Given the description of an element on the screen output the (x, y) to click on. 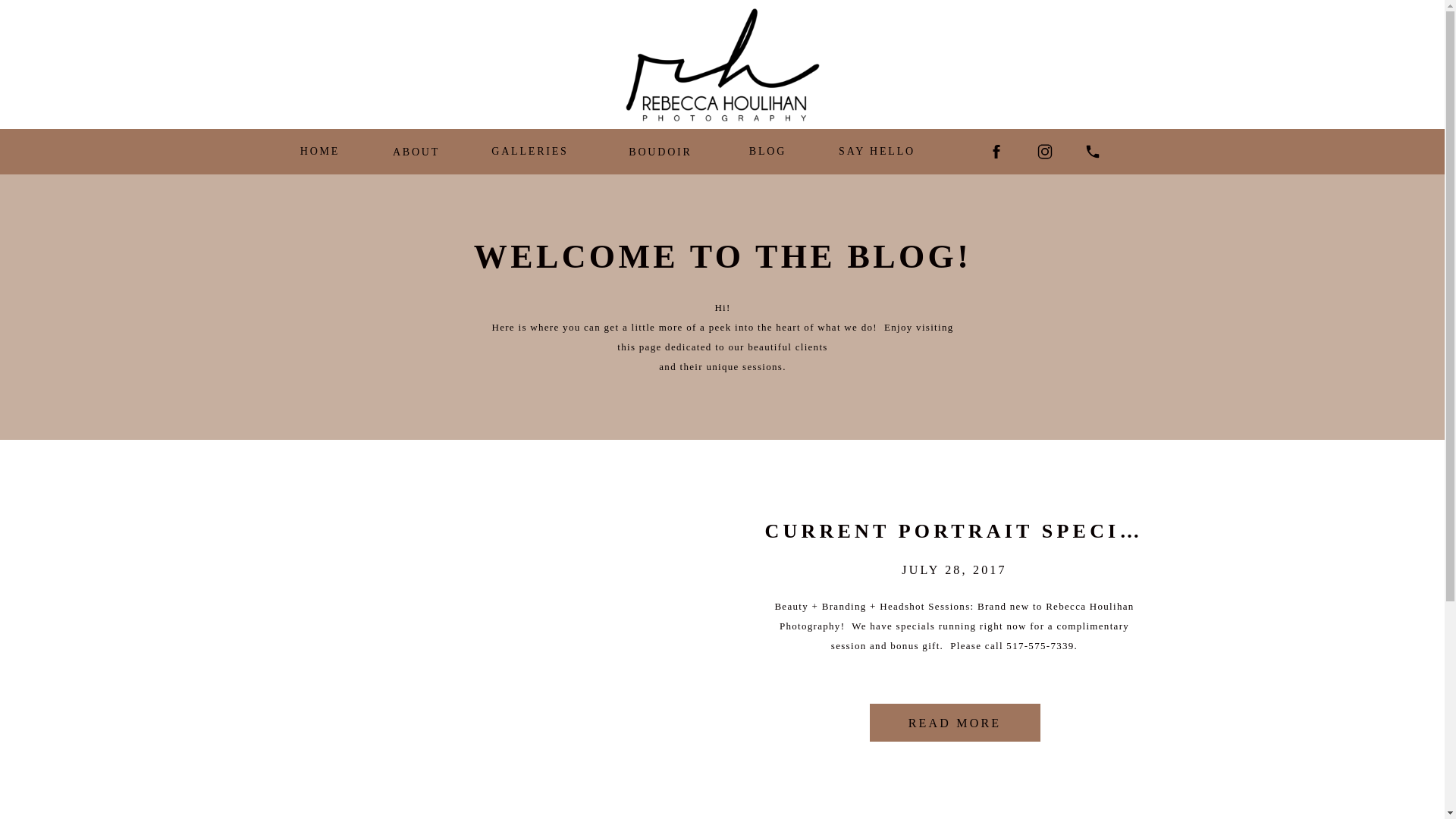
SAY HELLO (877, 150)
BLOG (767, 150)
BOUDOIR (660, 151)
READ MORE (954, 722)
GALLERIES (529, 150)
HOME (319, 150)
ABOUT (416, 150)
Current Portrait Specials (508, 629)
Current Portrait Specials (954, 722)
